Given the description of an element on the screen output the (x, y) to click on. 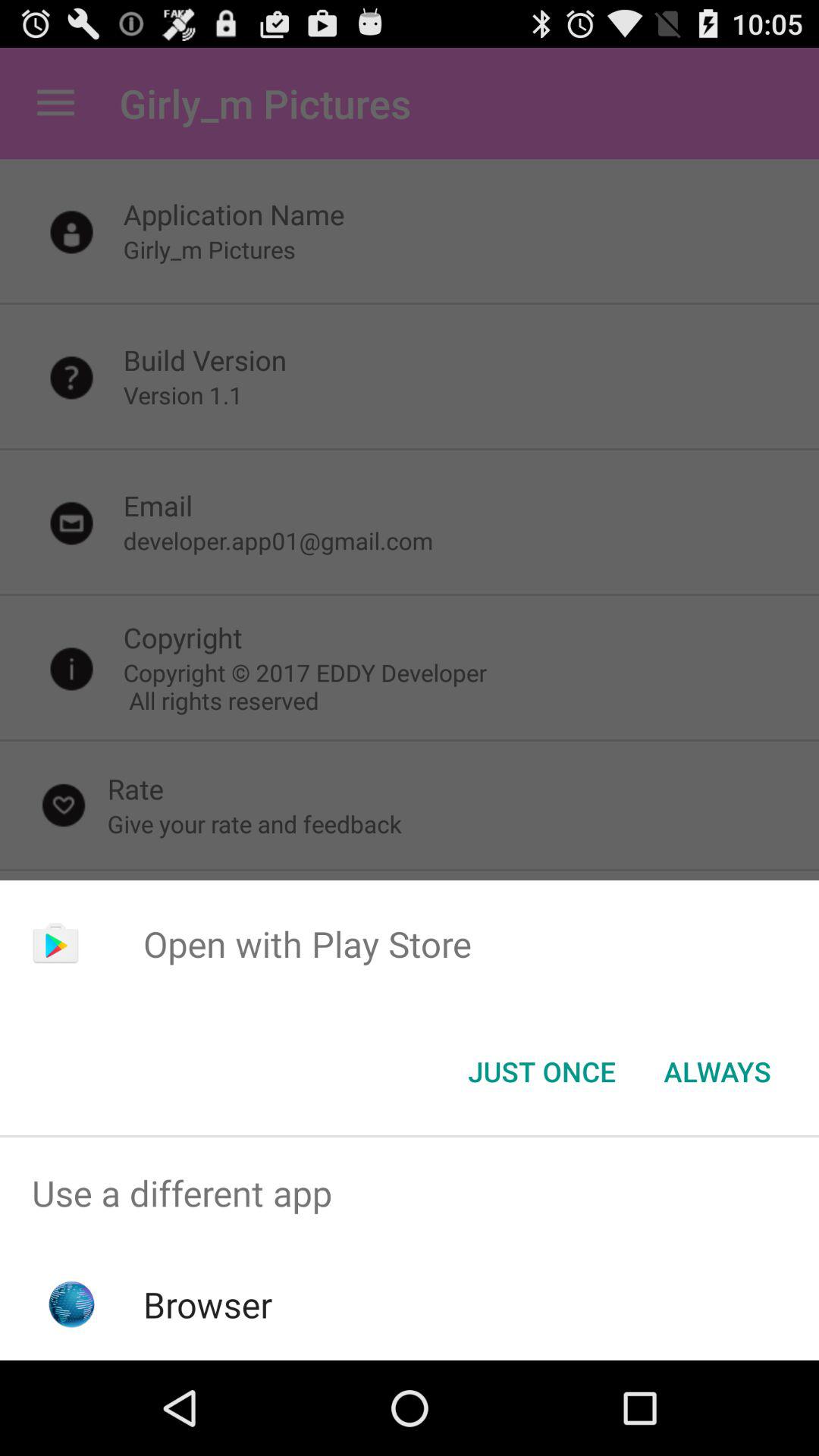
flip to the always icon (717, 1071)
